Given the description of an element on the screen output the (x, y) to click on. 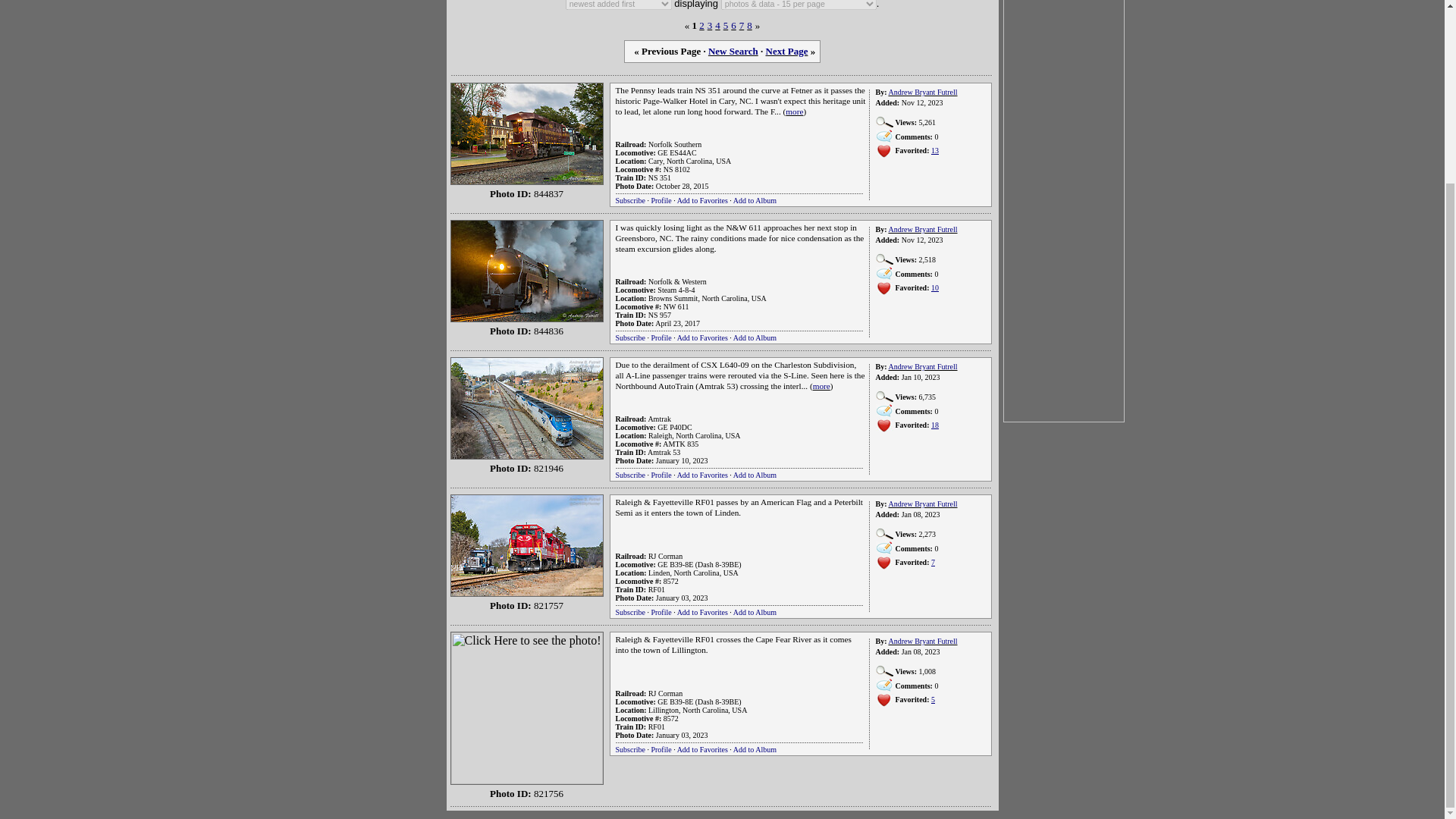
2 (701, 24)
Add to Favorites (702, 337)
Profile (660, 200)
3 (710, 24)
5 (726, 24)
Andrew Bryant Futrell (922, 91)
13 (935, 150)
Subscribe (630, 337)
NS 351 (659, 177)
Profile (660, 337)
Next Page (786, 50)
New Search (732, 50)
7 (741, 24)
NS 8102 (676, 169)
Cary, North Carolina, USA (688, 161)
